Given the description of an element on the screen output the (x, y) to click on. 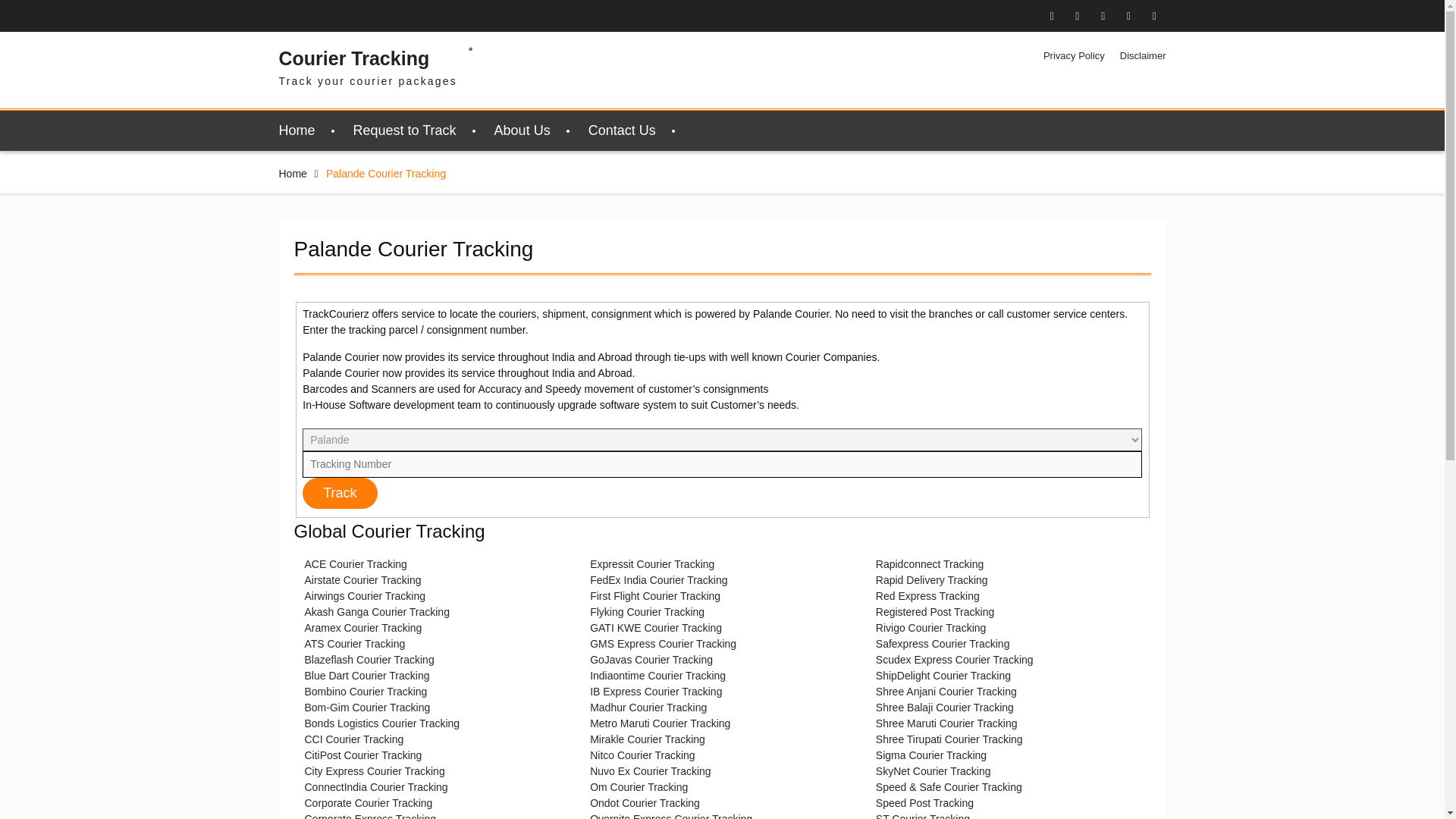
Airstate Courier Tracking (363, 580)
Bom-Gim Courier Tracking (367, 707)
Bombino Courier Tracking (366, 691)
Blue Dart Courier Tracking (366, 675)
Privacy Policy (1074, 55)
Blazeflash Courier Tracking (368, 659)
ATS Courier Tracking (355, 644)
Contact Us (622, 130)
Bonds Logistics Courier Tracking (382, 723)
Airwings Courier Tracking (365, 595)
Disclaimer (1142, 55)
ACE Courier Tracking (355, 563)
Corporate Express Tracking (370, 816)
Track (339, 492)
Home (297, 130)
